Given the description of an element on the screen output the (x, y) to click on. 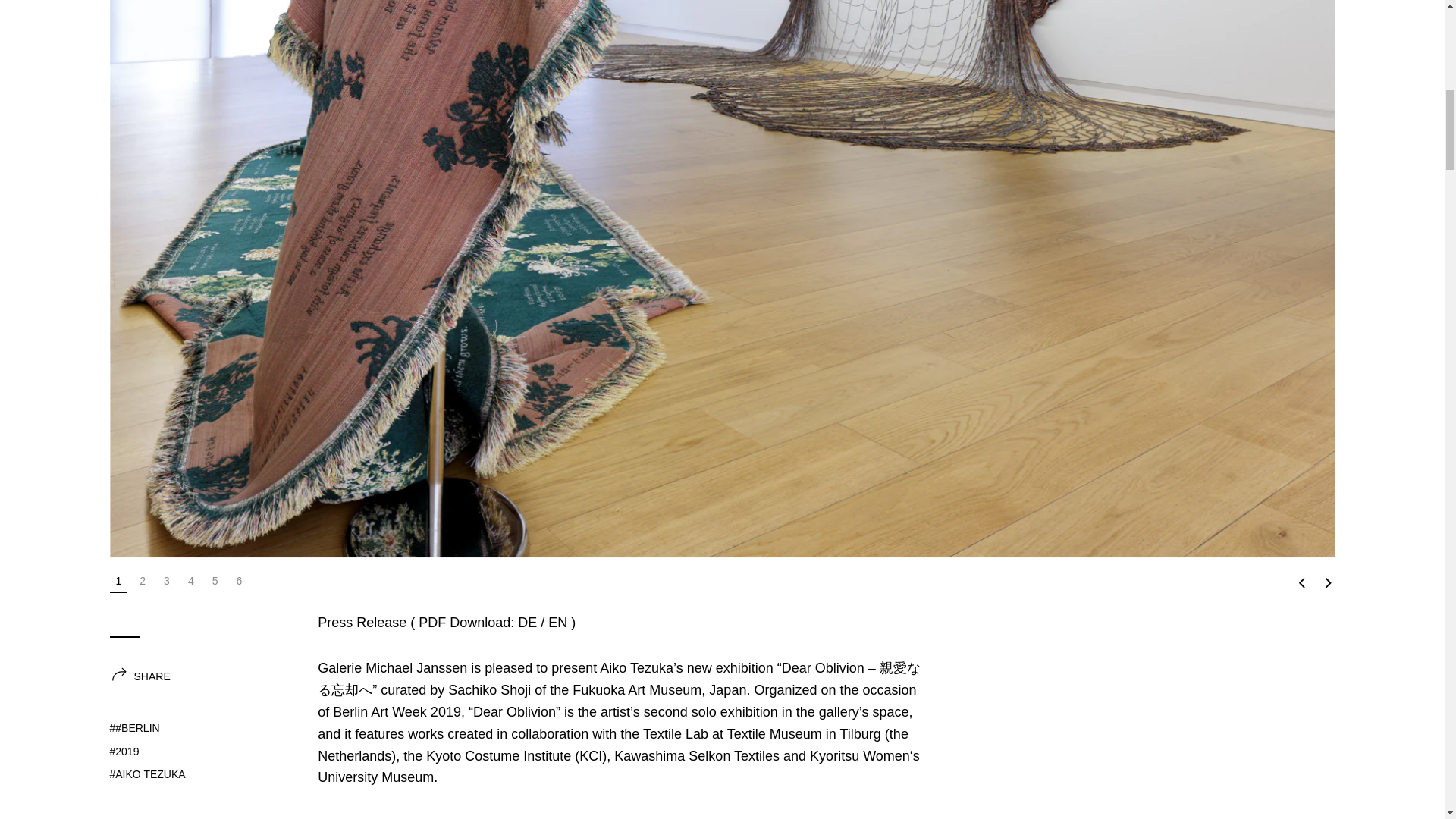
Press Release (557, 622)
Press Release (527, 622)
